Given the description of an element on the screen output the (x, y) to click on. 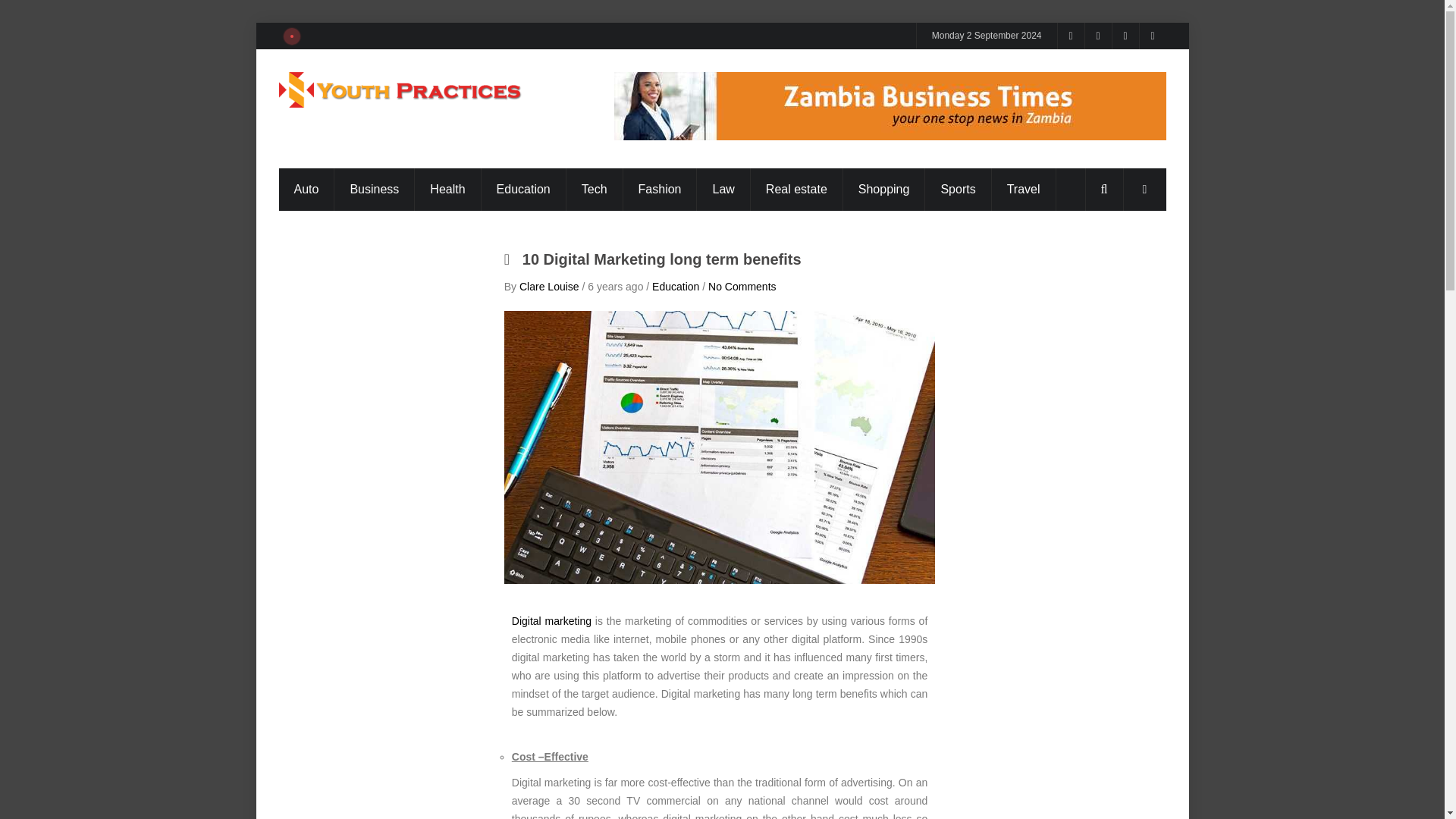
twitter (1152, 35)
rss (1070, 35)
Tech (594, 189)
Business (373, 189)
googleplus (1098, 35)
Education (523, 189)
Auto (306, 189)
Posts by Clare Louise (549, 286)
Health (447, 189)
facebook (1125, 35)
